Given the description of an element on the screen output the (x, y) to click on. 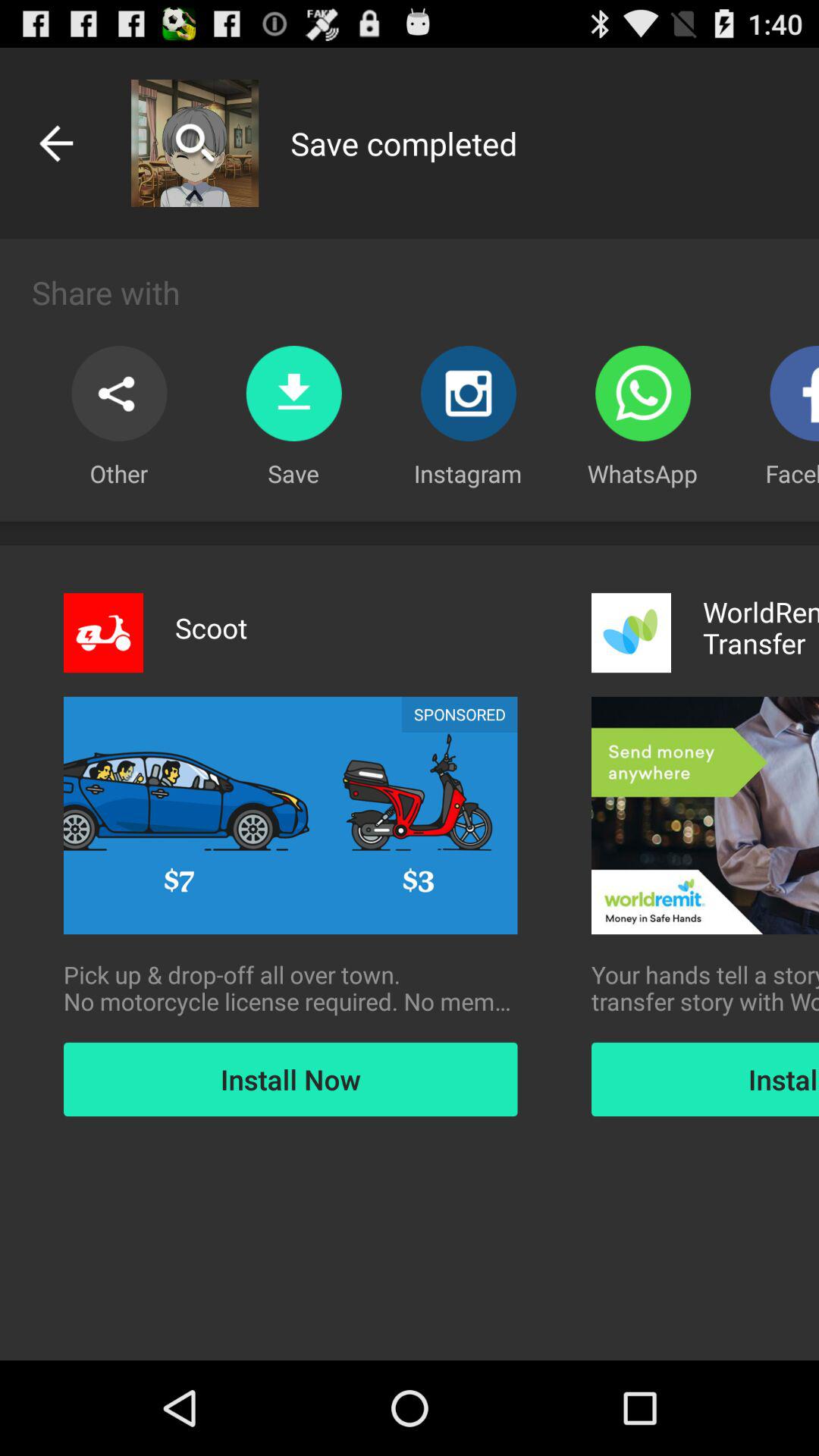
turn off icon above install now (705, 988)
